Given the description of an element on the screen output the (x, y) to click on. 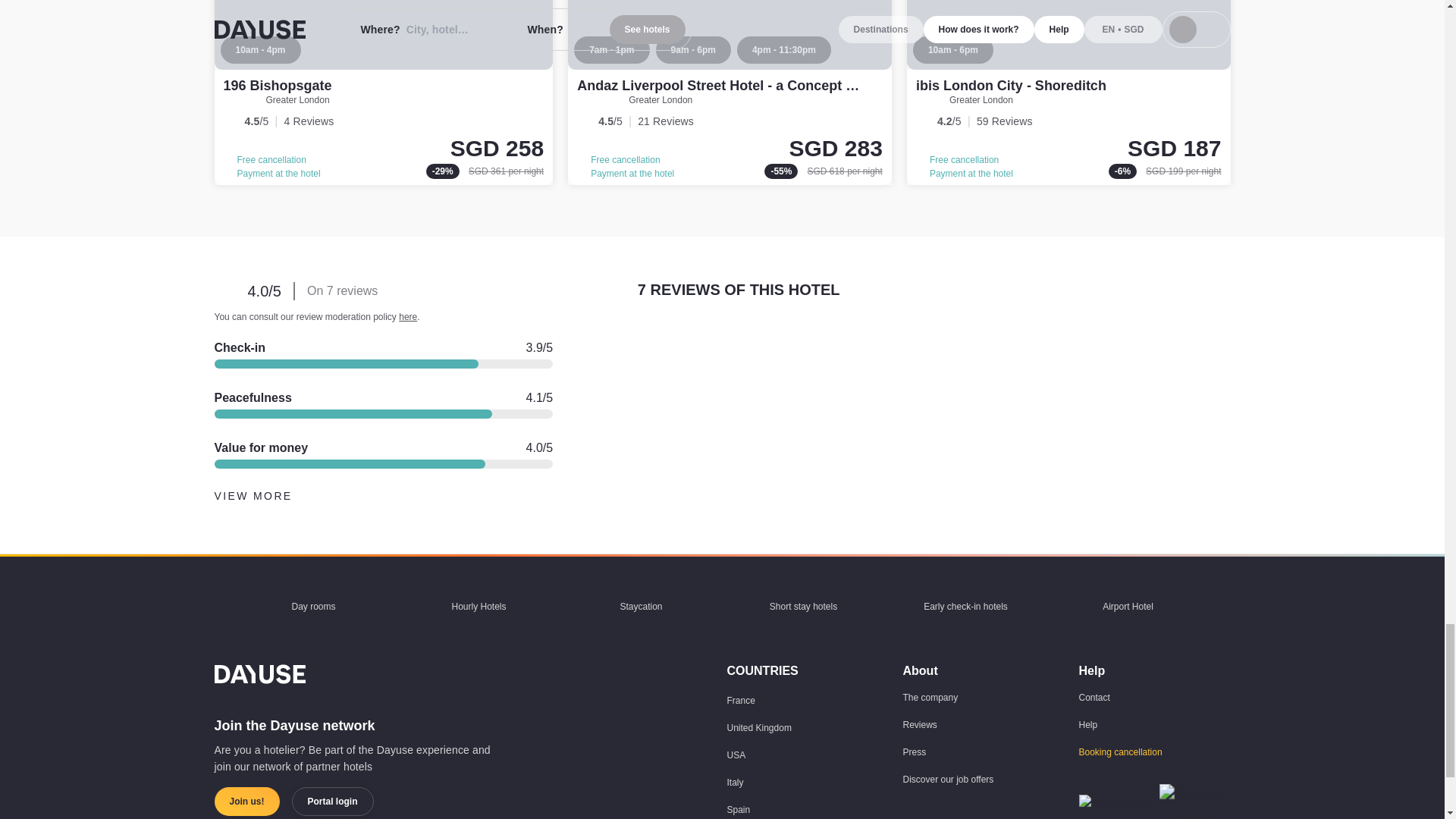
196 Bishopsgate (276, 85)
Andaz Liverpool Street Hotel - a Concept by Hyatt (737, 85)
196 Bishopsgate (383, 92)
ibis London City - Shoreditch (1010, 85)
ibis London City - Shoreditch (1068, 92)
Andaz Liverpool Street Hotel - a Concept by Hyatt (729, 92)
